Given the description of an element on the screen output the (x, y) to click on. 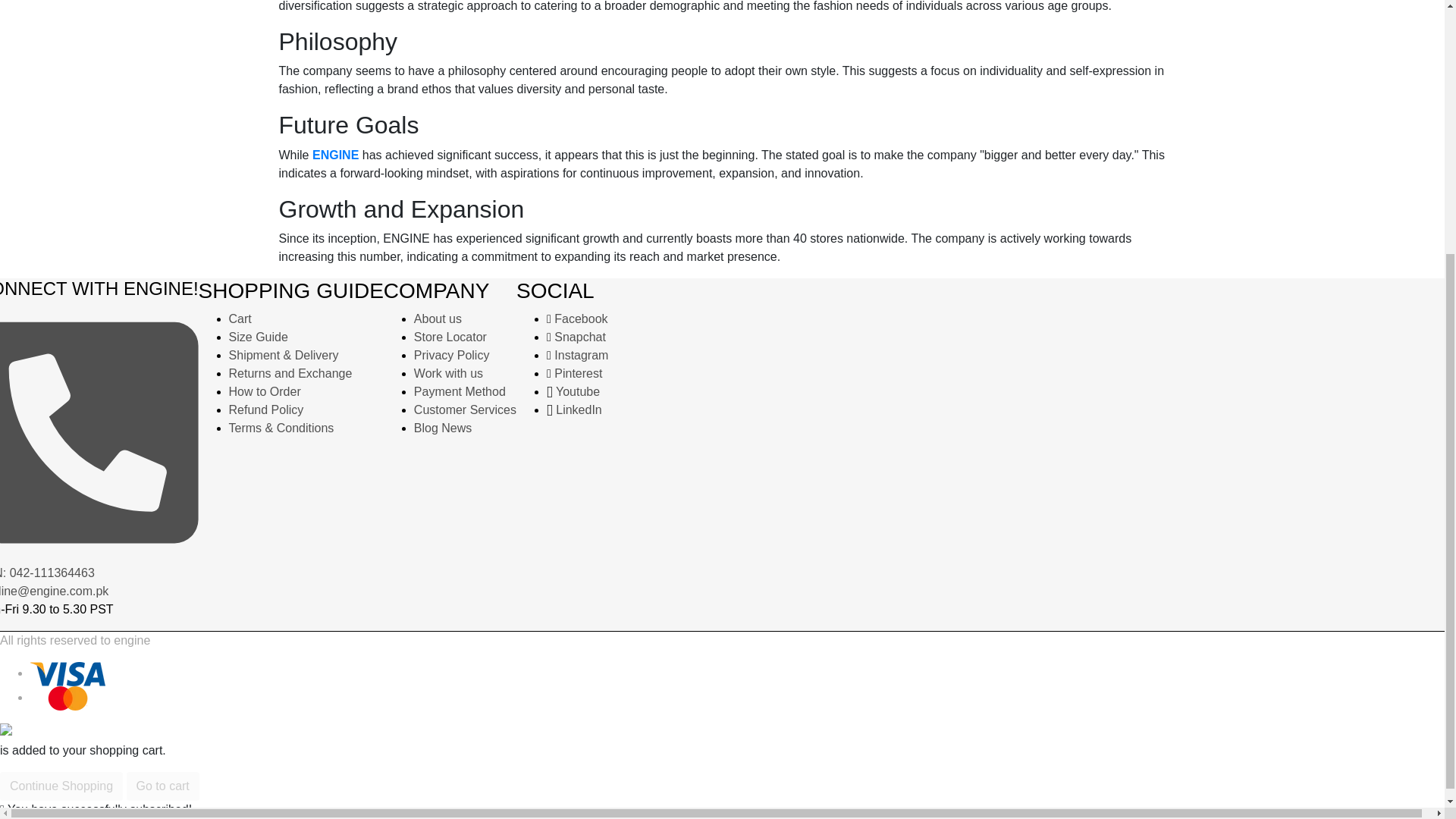
Returns and Exchange (290, 373)
Cart (239, 318)
Size Guide (258, 336)
How to Order (264, 391)
